Given the description of an element on the screen output the (x, y) to click on. 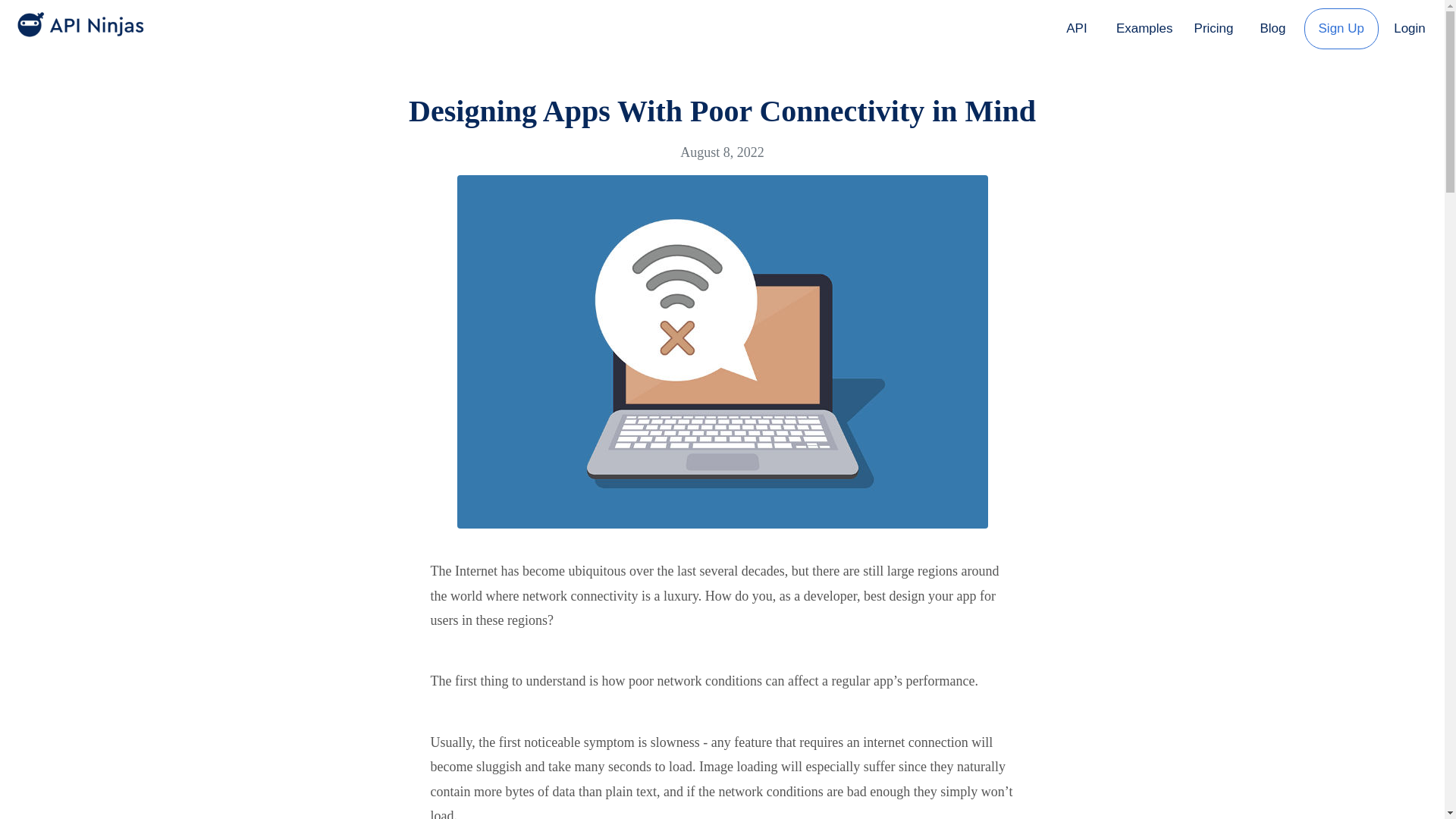
Pricing (1213, 25)
API (1076, 25)
Login (1409, 28)
Sign Up (1340, 25)
API (1076, 28)
Examples (1144, 28)
Examples (1144, 25)
Blog (1272, 25)
Blog (1273, 28)
Pricing (1213, 28)
